Given the description of an element on the screen output the (x, y) to click on. 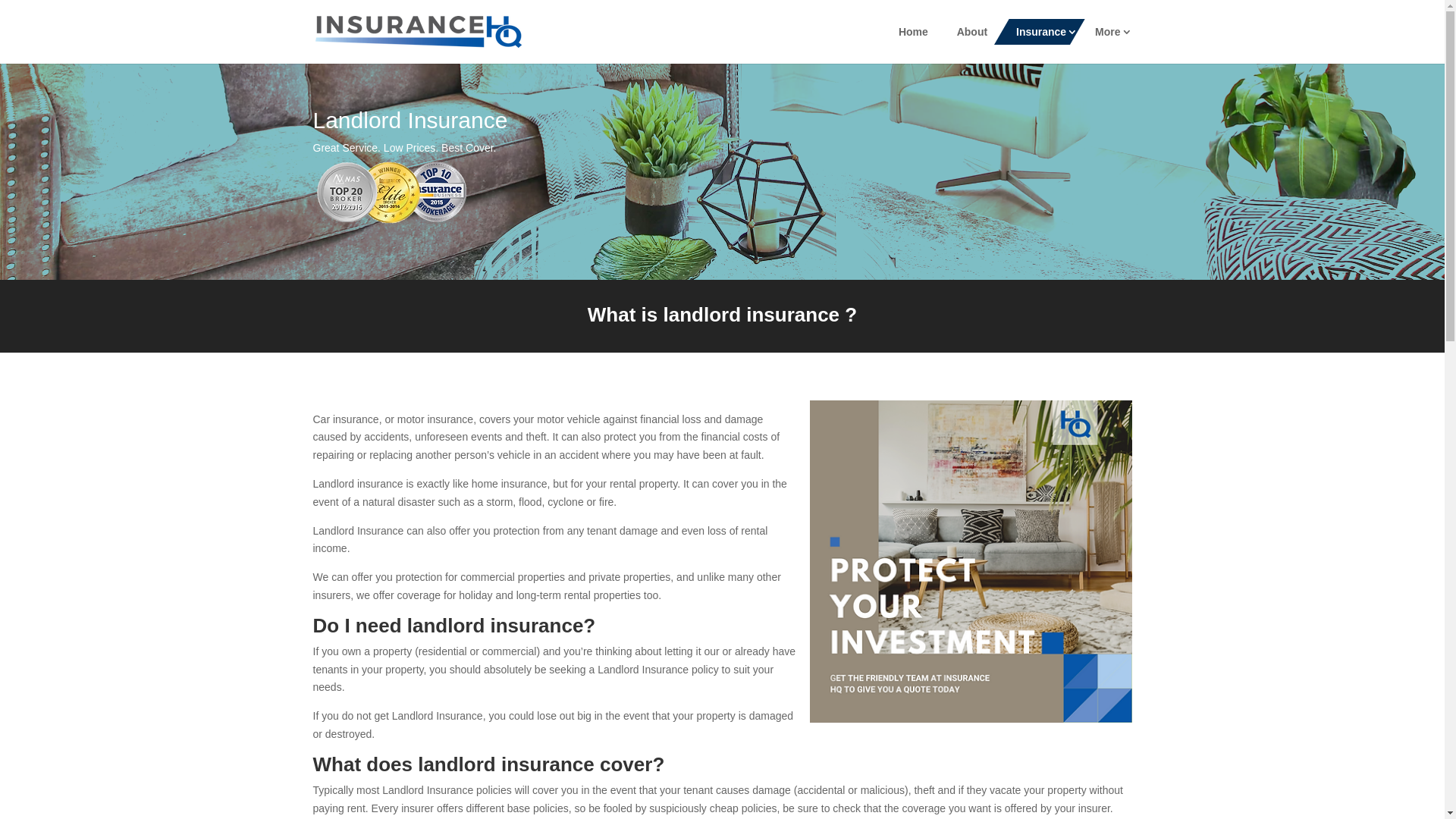
About Element type: text (971, 31)
Insurance Element type: text (1040, 31)
More Element type: text (1107, 31)
Home Element type: text (913, 31)
